Given the description of an element on the screen output the (x, y) to click on. 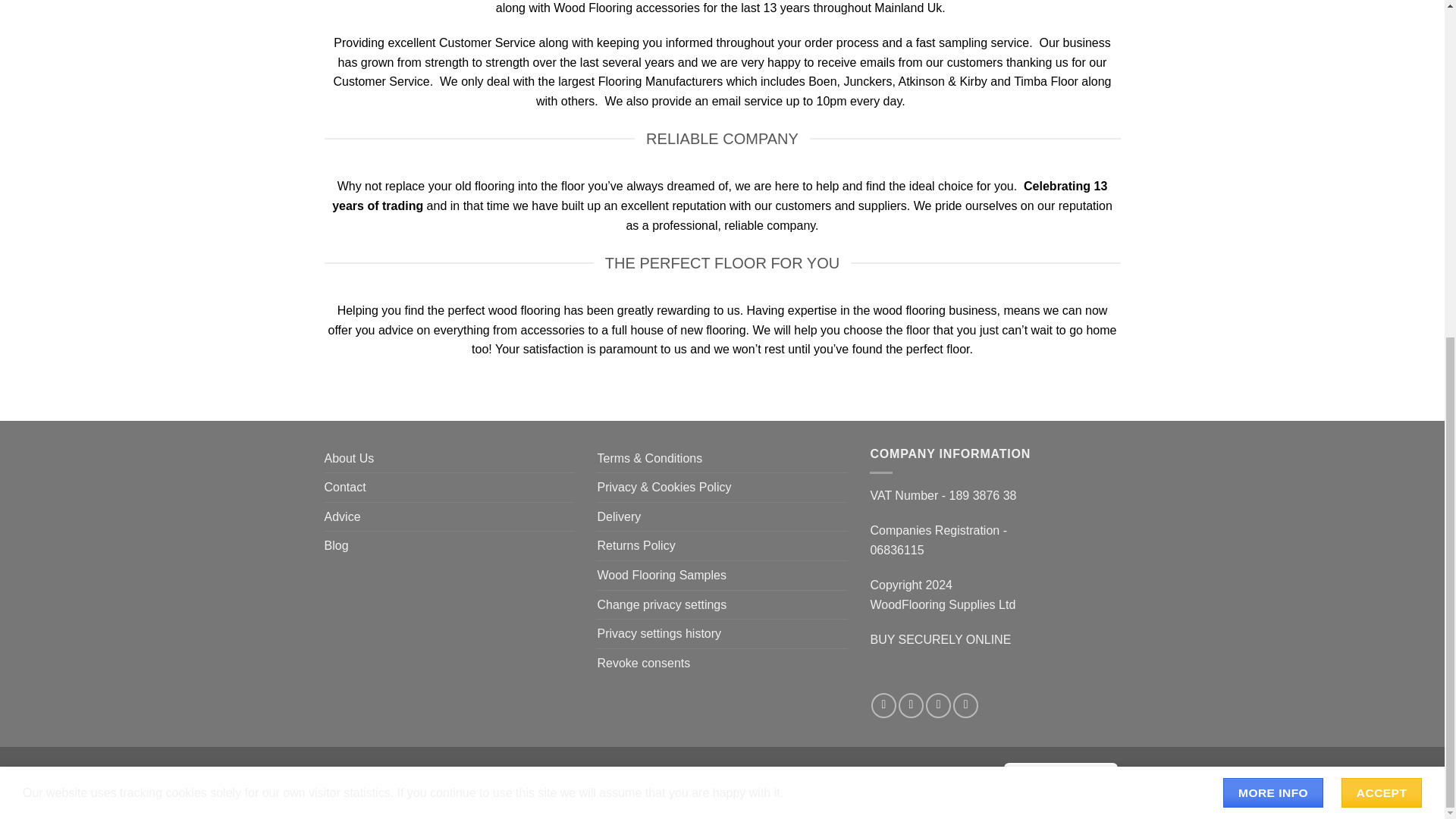
Share on Facebook (883, 705)
